Given the description of an element on the screen output the (x, y) to click on. 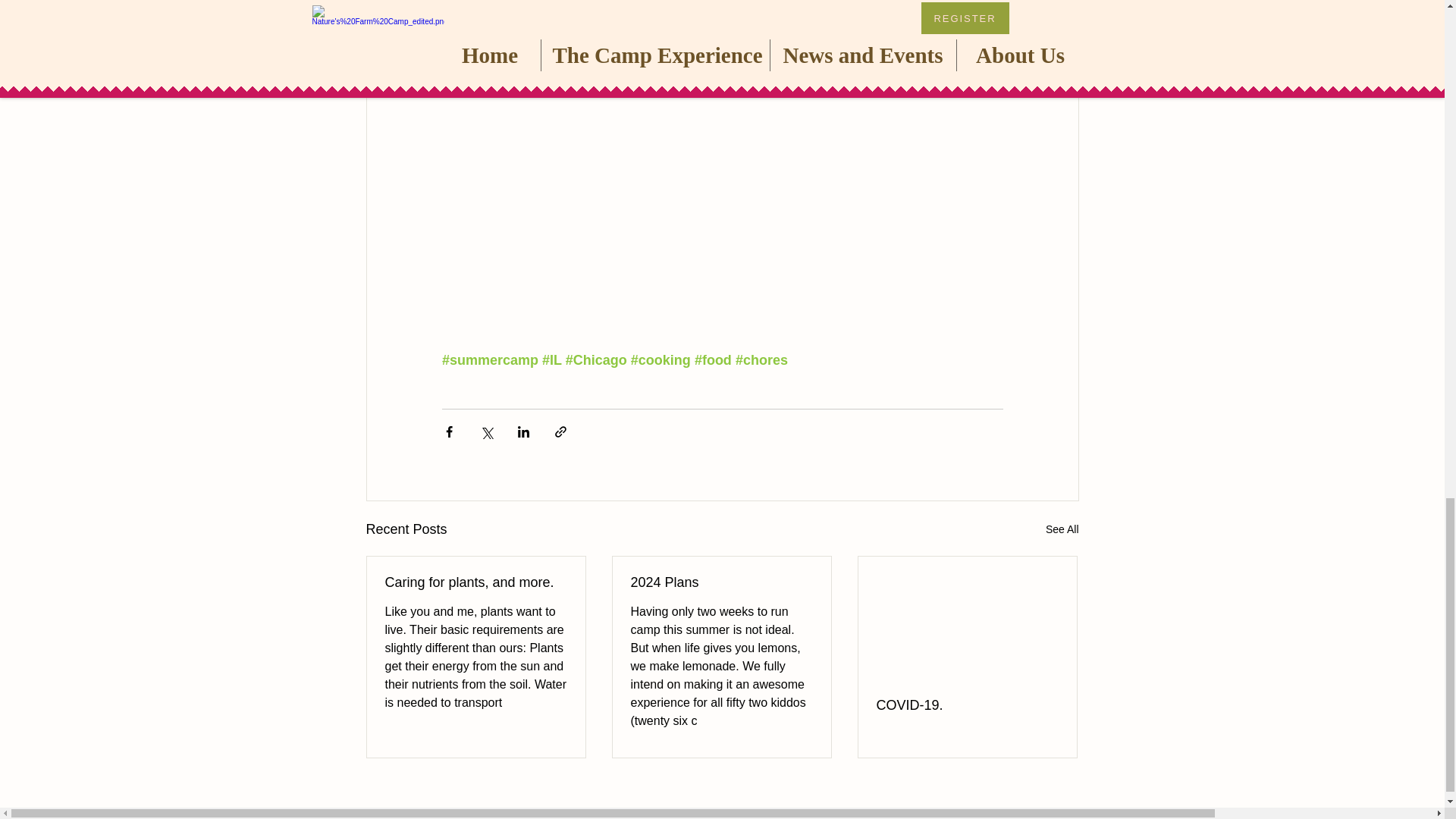
2024 Plans (721, 582)
See All (1061, 529)
COVID-19. (967, 705)
Caring for plants, and more. (476, 582)
